Given the description of an element on the screen output the (x, y) to click on. 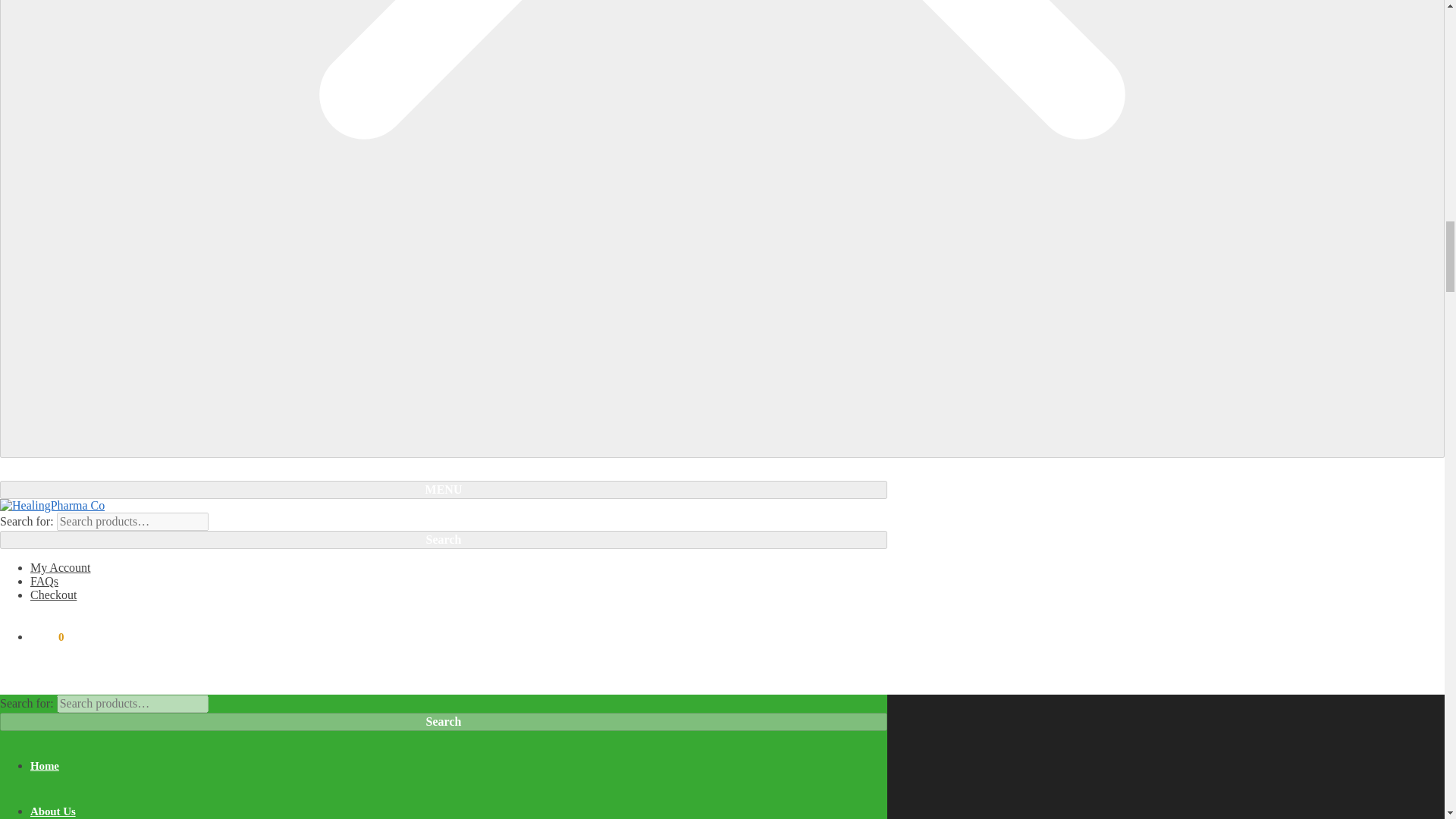
FAQs (458, 581)
View your shopping cart (47, 636)
About Us (52, 811)
Search (443, 539)
Checkout (458, 594)
Home (44, 766)
MENU (443, 489)
Search (443, 721)
